Given the description of an element on the screen output the (x, y) to click on. 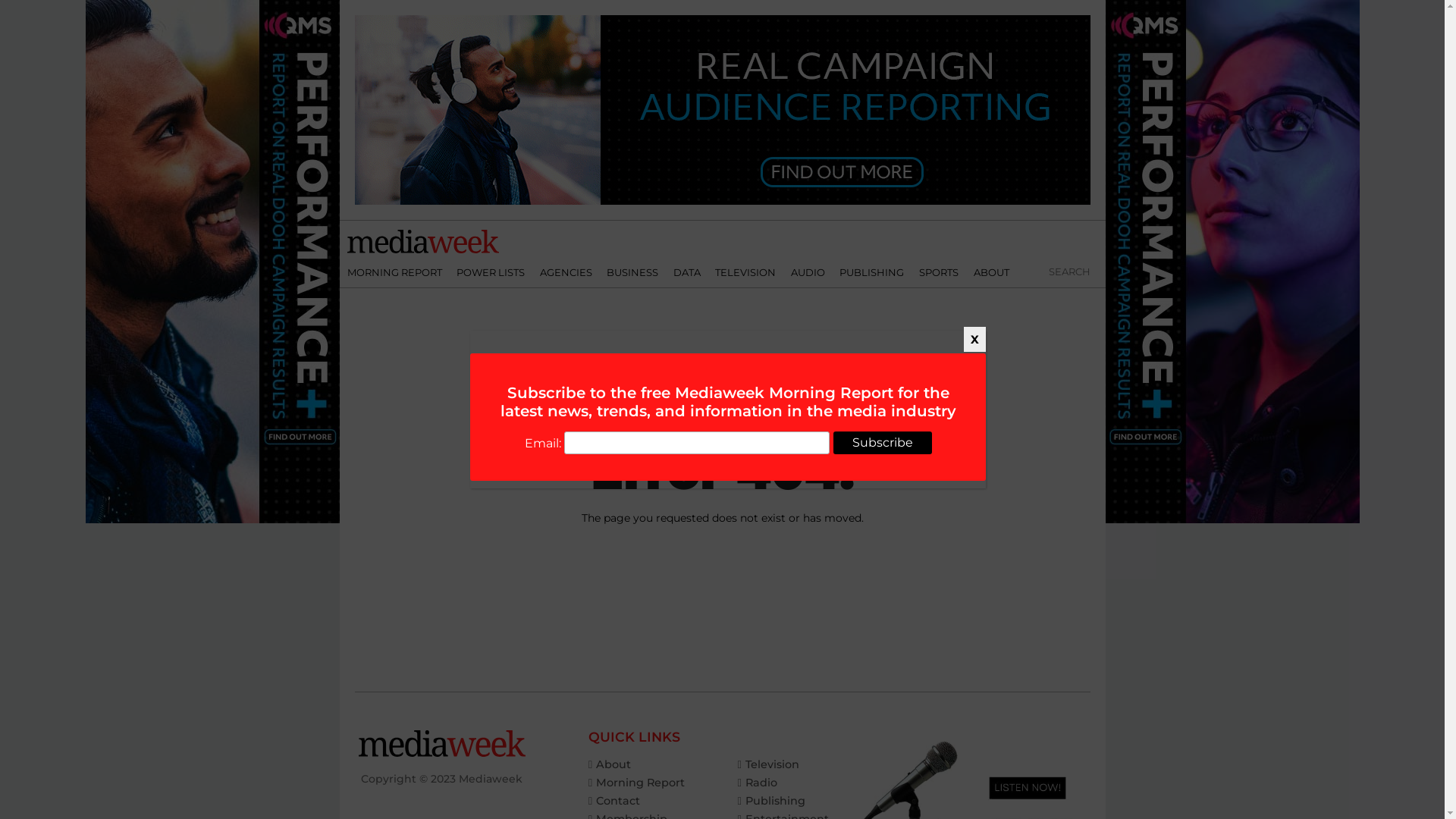
Contact Element type: text (614, 800)
Television Element type: text (767, 764)
AUDIO Element type: text (807, 272)
TELEVISION Element type: text (746, 272)
Subscribe Element type: text (881, 442)
MORNING REPORT Element type: text (394, 272)
SPORTS Element type: text (938, 272)
DATA Element type: text (686, 272)
Publishing Element type: text (770, 800)
ABOUT Element type: text (991, 272)
BUSINESS Element type: text (632, 272)
PUBLISHING Element type: text (872, 272)
3rd party ad content Element type: hover (722, 109)
Radio Element type: text (756, 782)
X Element type: text (974, 338)
POWER LISTS Element type: text (490, 272)
Morning Report Element type: text (636, 782)
AGENCIES Element type: text (565, 272)
About Element type: text (609, 764)
